Given the description of an element on the screen output the (x, y) to click on. 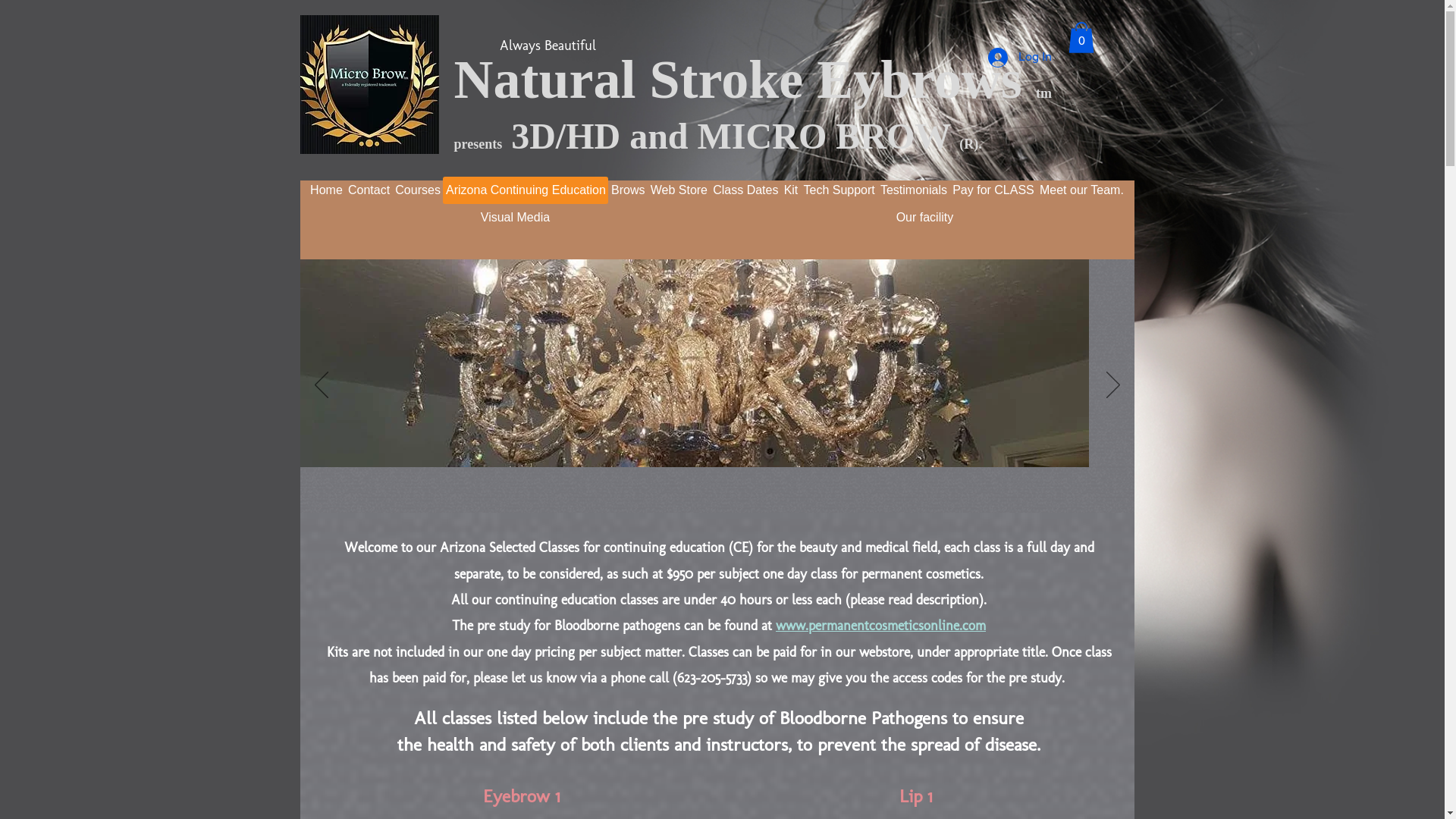
Our facility Element type: text (924, 217)
0 Element type: text (1080, 37)
Log In Element type: text (1018, 57)
Courses Element type: text (417, 189)
Home Element type: text (326, 189)
Contact Element type: text (368, 189)
Tech Support Element type: text (838, 189)
Meet our Team. Element type: text (1081, 189)
Visual Media Element type: text (515, 217)
Brows Element type: text (627, 189)
Kit Element type: text (790, 189)
Class Dates Element type: text (745, 189)
Testimonials Element type: text (913, 189)
Web Store Element type: text (678, 189)
Arizona Continuing Education Element type: text (525, 189)
www.permanentcosmeticsonline.com Element type: text (880, 626)
Pay for CLASS Element type: text (993, 189)
